Given the description of an element on the screen output the (x, y) to click on. 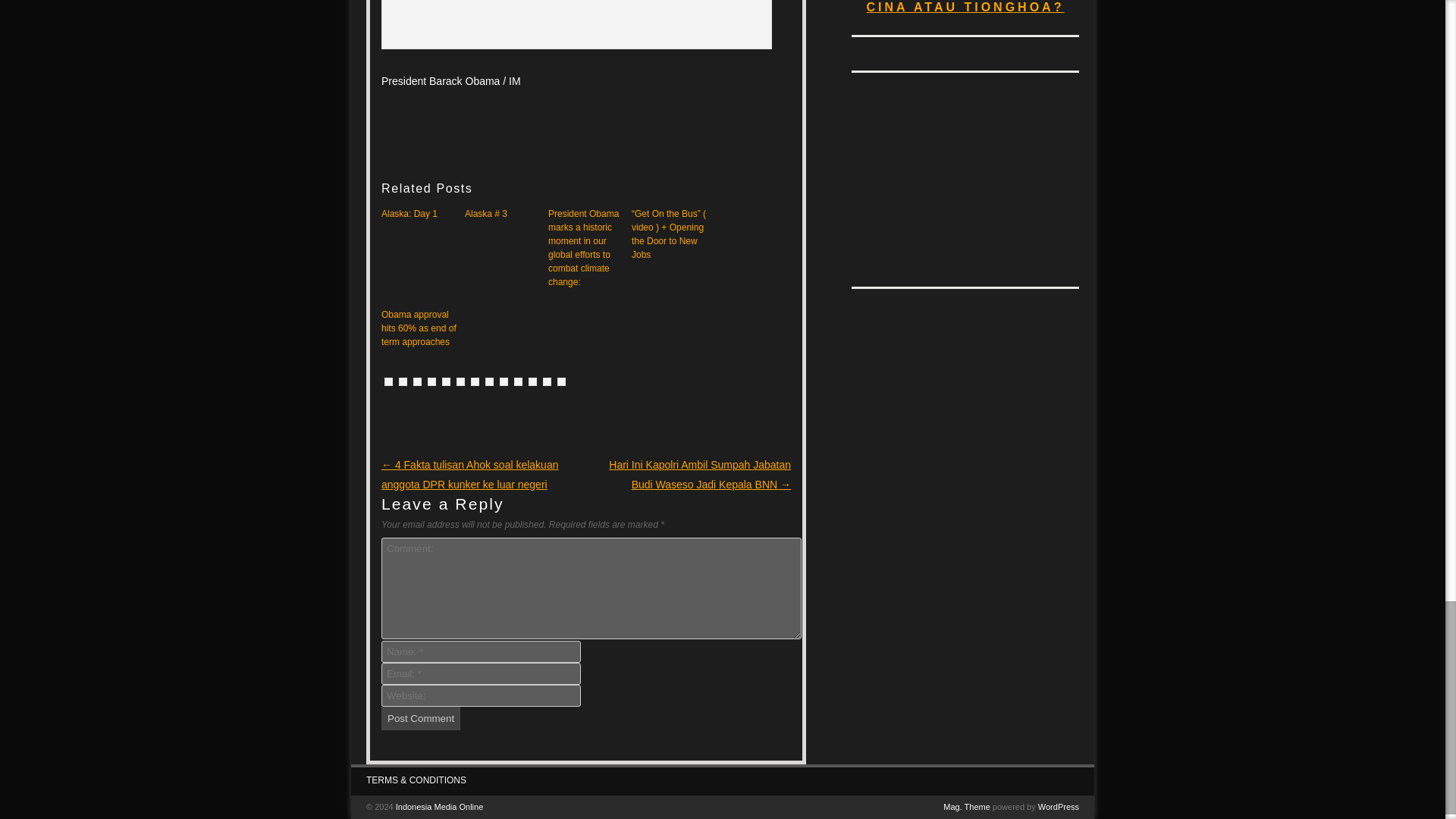
Shout it (503, 381)
Buzz This (431, 381)
Bookmark this on Technorati (532, 381)
Digg This (388, 381)
Share on Facebook (460, 381)
Reddit This (402, 381)
Alaska: Day 1 (419, 213)
Post Comment (420, 718)
Kick It on DotNetKicks.com (488, 381)
Share on LinkedIn (517, 381)
Vote on DZone (445, 381)
Bookmark this on Delicious (474, 381)
Stumble Now! (417, 381)
